Given the description of an element on the screen output the (x, y) to click on. 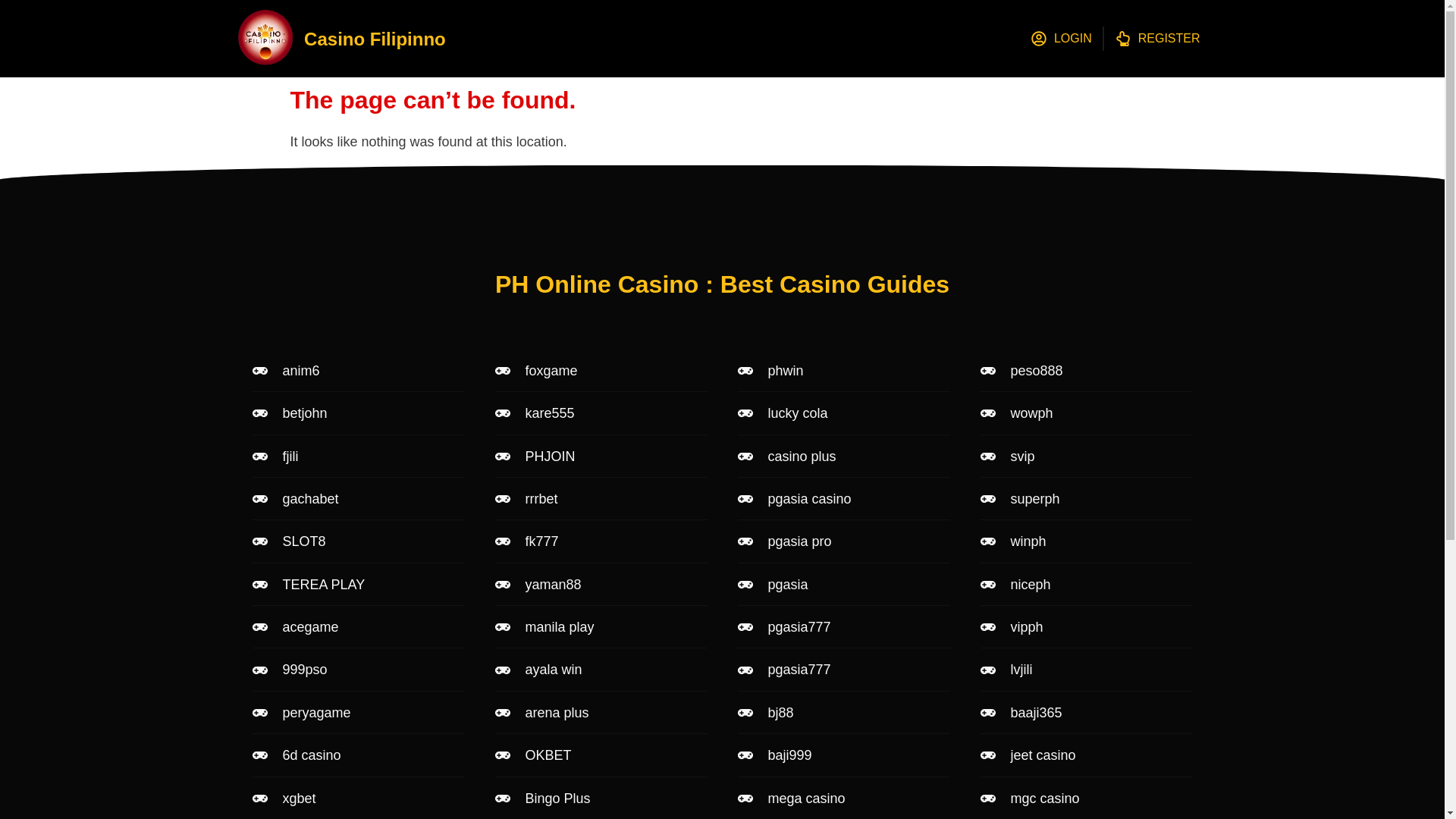
pgasia casino (842, 498)
999pso (357, 669)
REGISTER (1157, 38)
Casino Filipinno (374, 38)
SLOT8 (357, 541)
foxgame (600, 370)
arena plus (600, 712)
acegame (357, 627)
Bingo Plus (600, 798)
yaman88 (600, 584)
PHJOIN (600, 456)
LOGIN (1061, 38)
OKBET (600, 754)
betjohn (357, 413)
gachabet (357, 498)
